Given the description of an element on the screen output the (x, y) to click on. 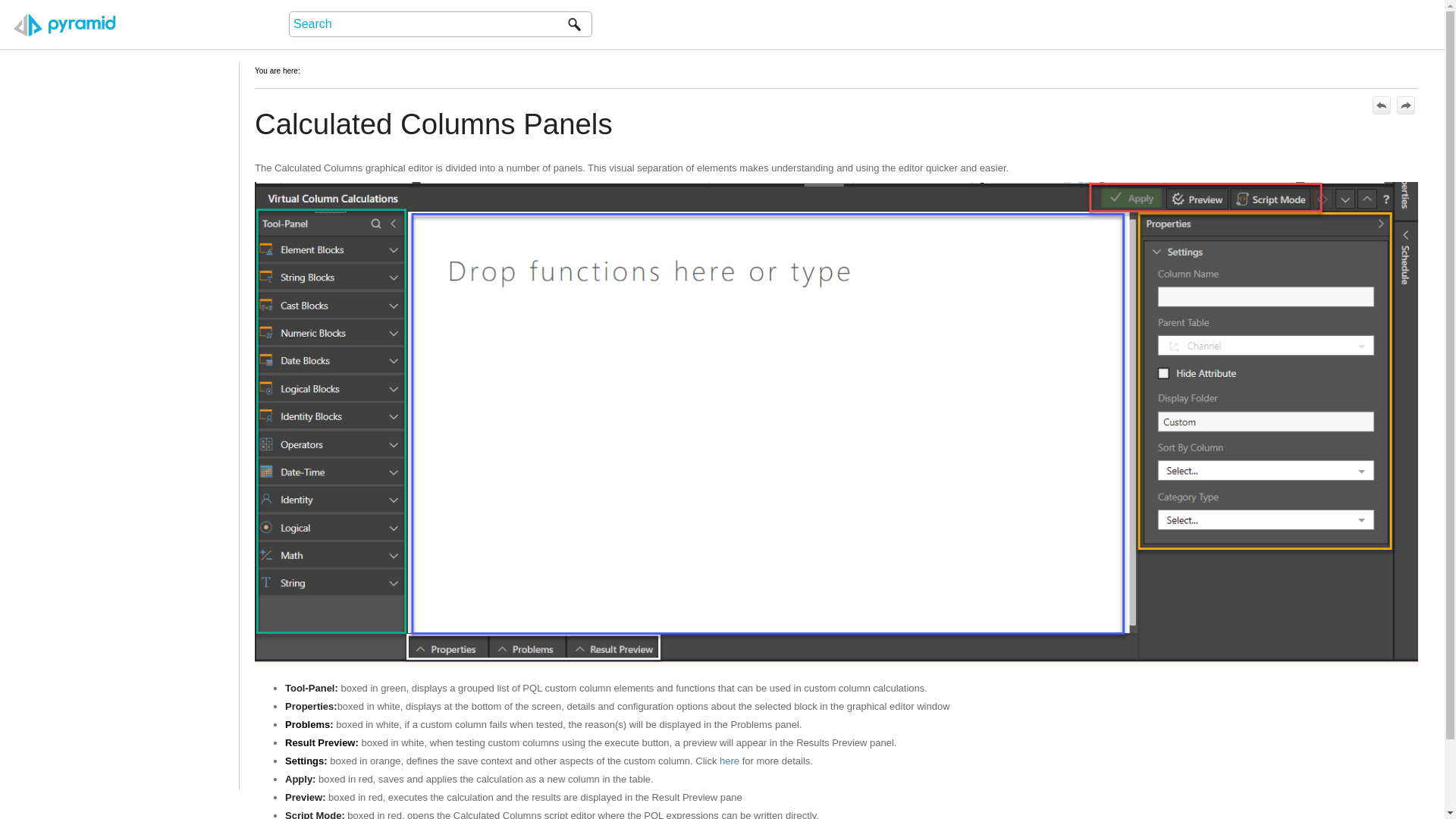
Navigate previous (1381, 105)
here (729, 760)
Search (574, 24)
Navigate next (1405, 105)
